Given the description of an element on the screen output the (x, y) to click on. 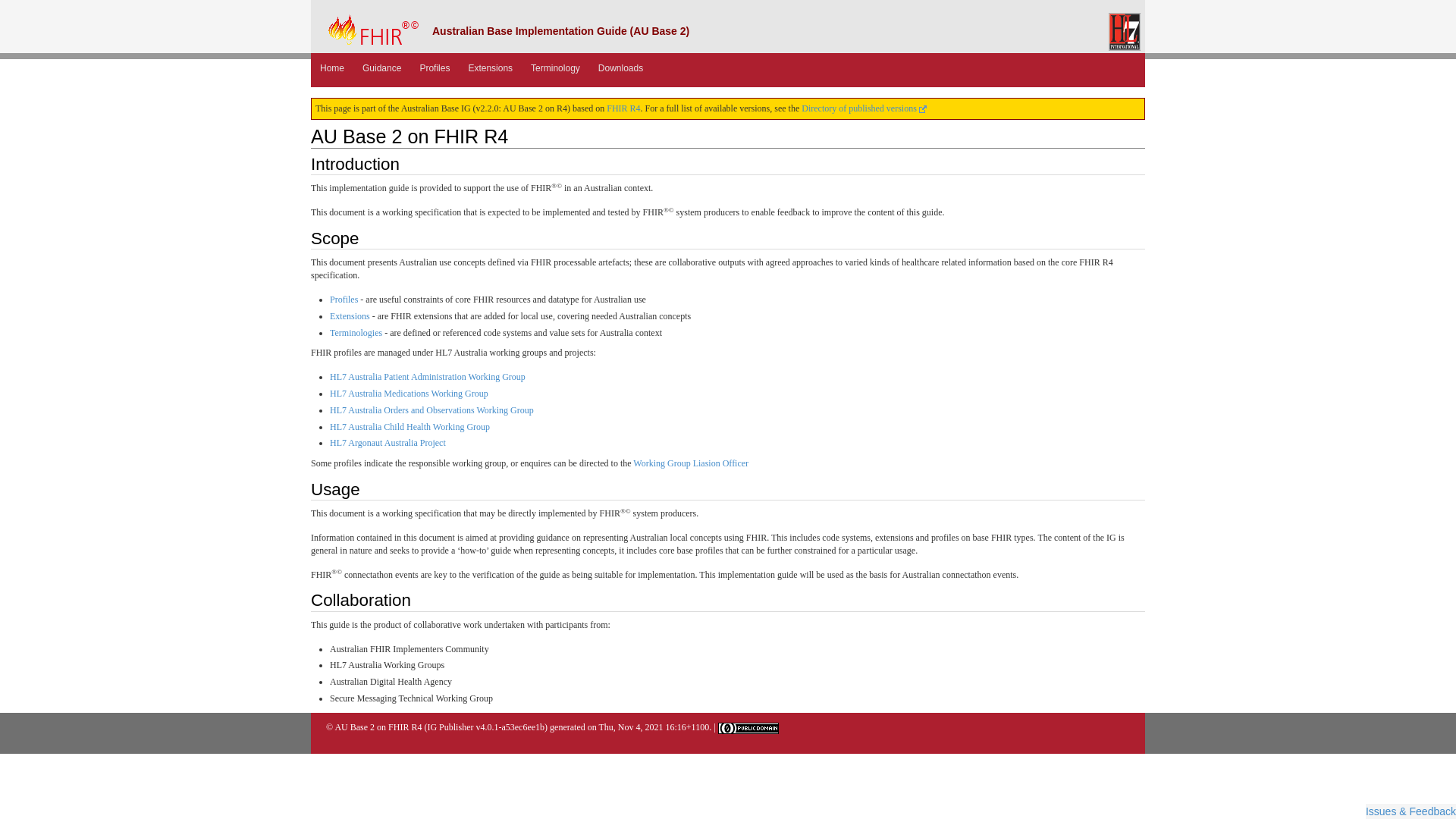
HL7 Australia Orders and Observations Working Group Element type: text (431, 409)
FHIR R4 Element type: text (623, 108)
Profiles Element type: text (434, 68)
Terminologies Element type: text (355, 332)
HL7 Argonaut Australia Project Element type: text (387, 442)
Guidance Element type: text (381, 68)
Working Group Liasion Officer Element type: text (690, 463)
Directory of published versions Element type: text (863, 108)
HL7 Australia Patient Administration Working Group Element type: text (427, 376)
HL7 Australia Child Health Working Group Element type: text (409, 426)
Terminology Element type: text (555, 68)
Home Element type: text (331, 68)
Profiles Element type: text (343, 299)
Extensions Element type: text (489, 68)
HL7 Australia Medications Working Group Element type: text (408, 393)
Downloads Element type: text (620, 68)
Extensions Element type: text (349, 315)
